Given the description of an element on the screen output the (x, y) to click on. 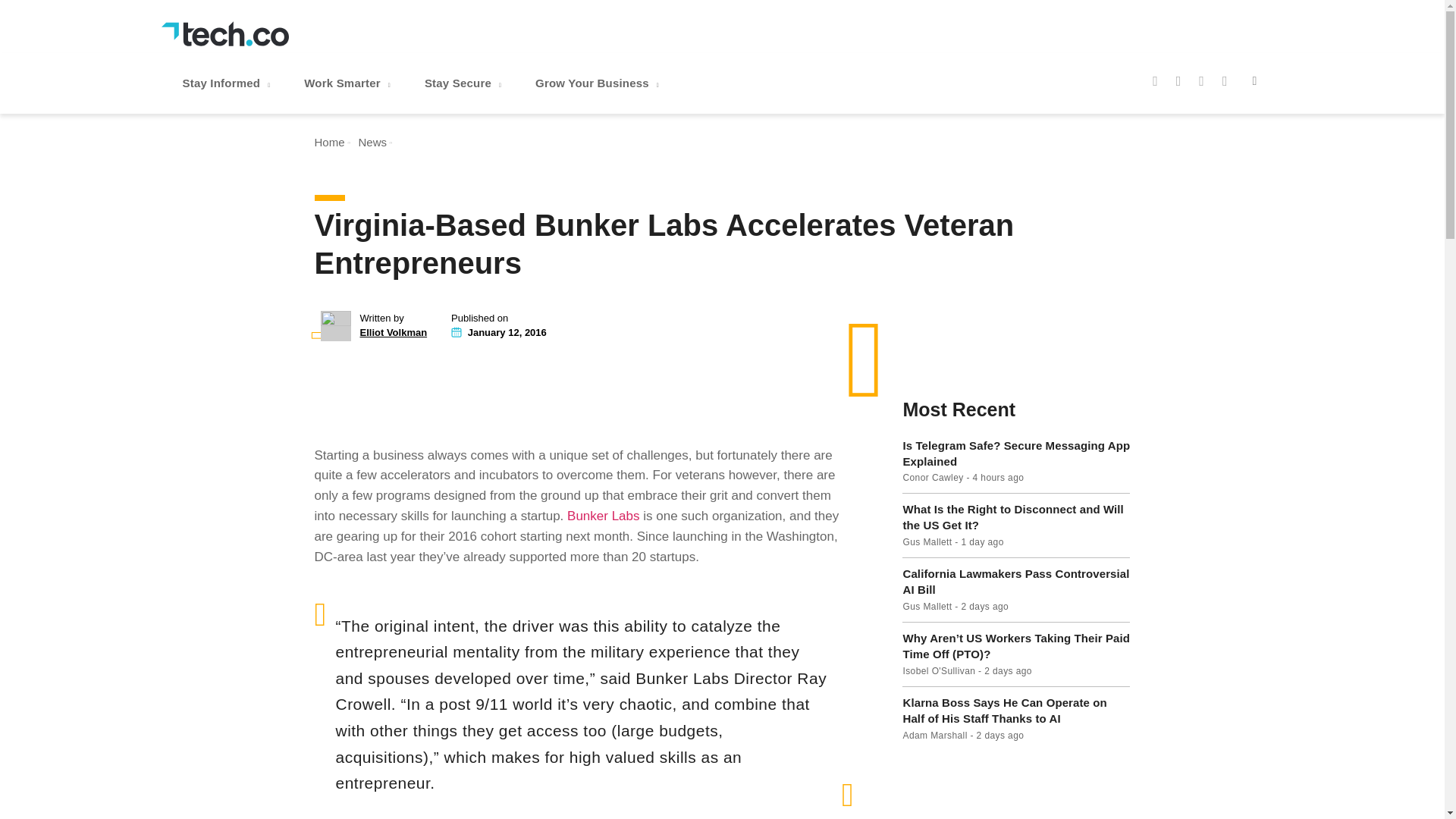
Stay Secure (464, 83)
Stay Informed (227, 83)
Work Smarter (348, 83)
Grow Your Business (598, 83)
